Given the description of an element on the screen output the (x, y) to click on. 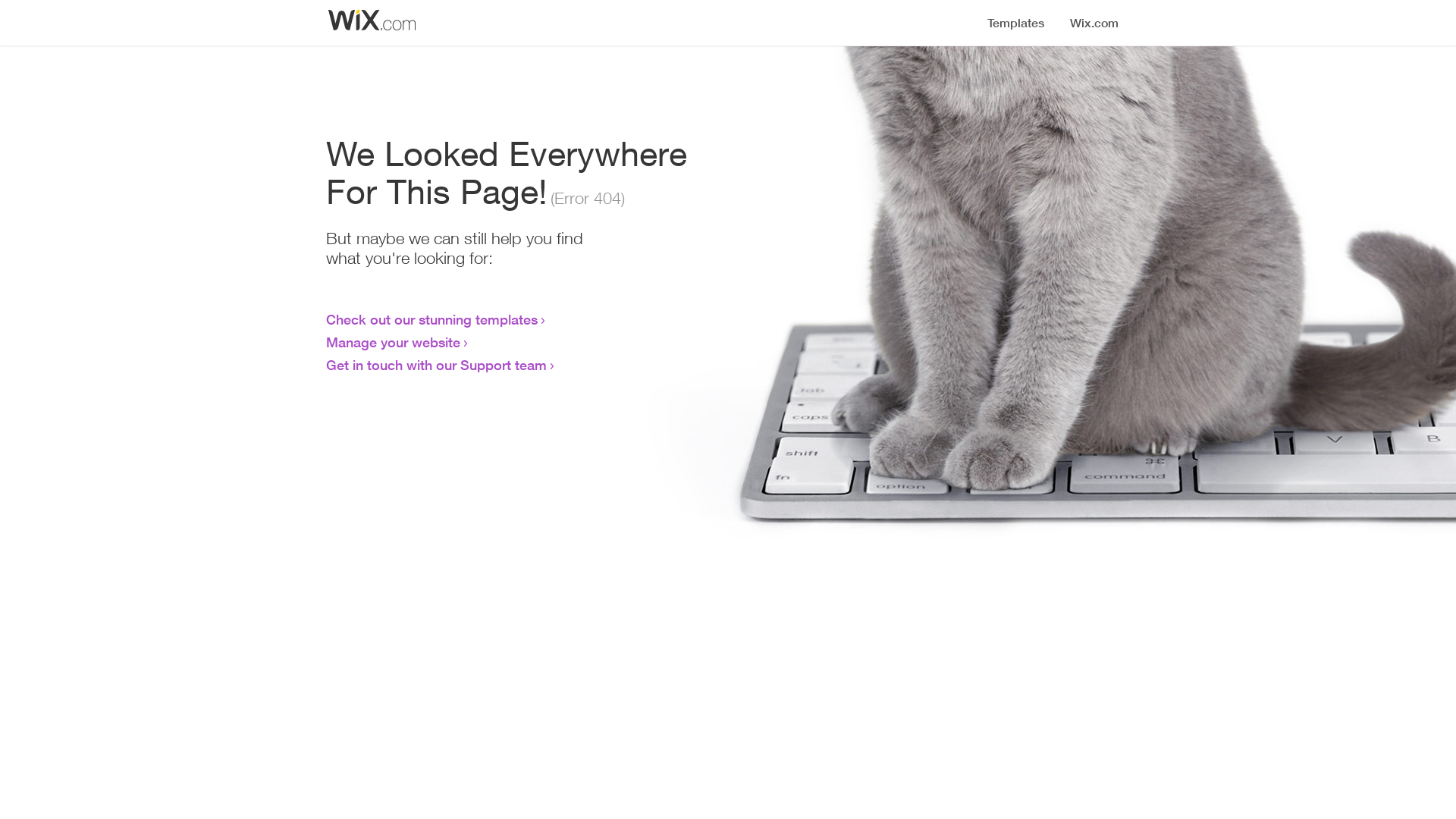
Get in touch with our Support team Element type: text (436, 364)
Manage your website Element type: text (393, 341)
Check out our stunning templates Element type: text (431, 318)
